Given the description of an element on the screen output the (x, y) to click on. 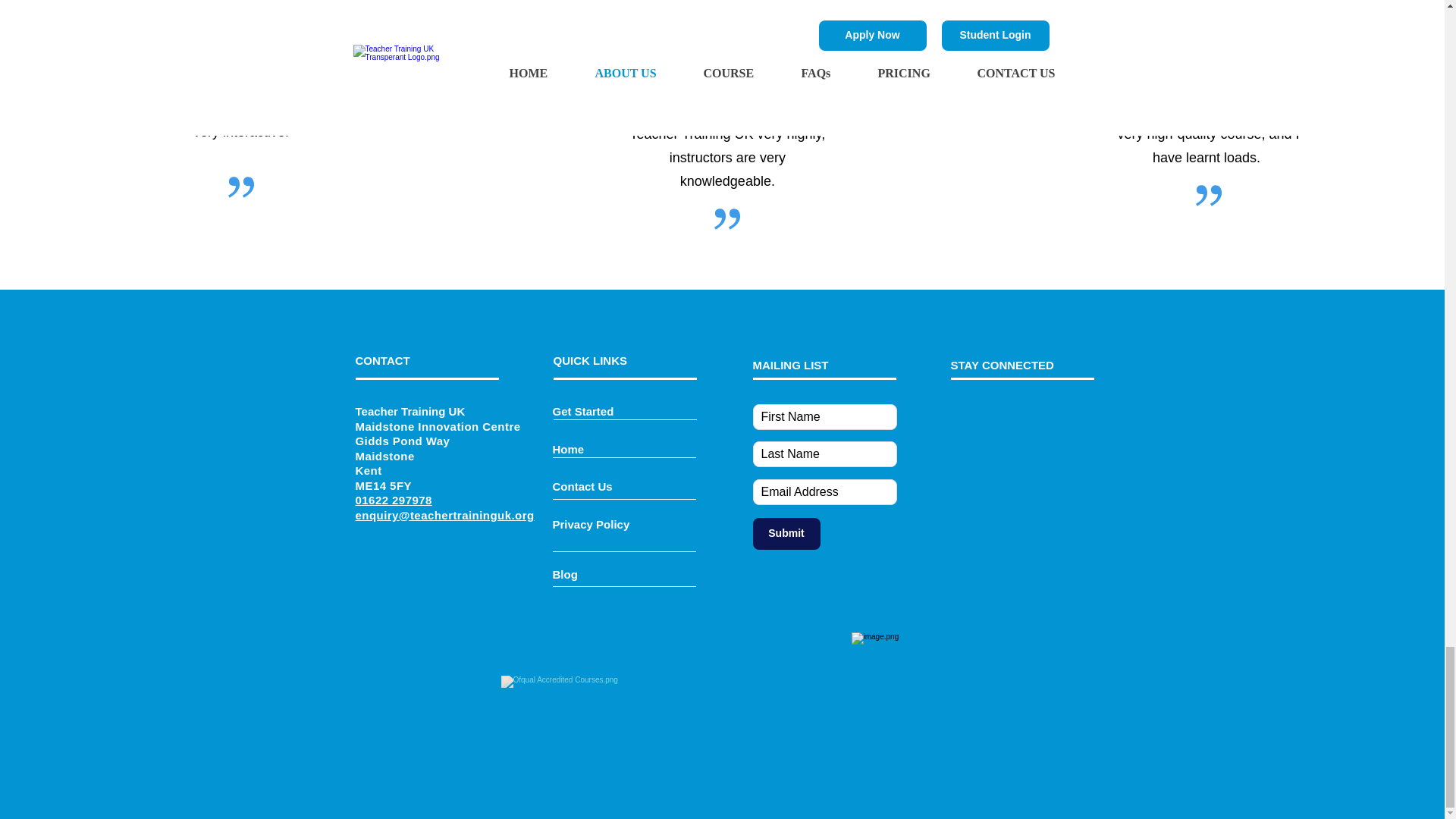
Contact Us (581, 486)
Blog (563, 574)
GettyImages-535587703.jpg (241, 3)
01622 297978 (392, 499)
Get Started (581, 410)
Home (567, 449)
GettyImages-145680711.jpg (1211, 2)
GettyImages-124893619.jpg (726, 2)
Privacy Policy (589, 523)
Submit (785, 533)
